Given the description of an element on the screen output the (x, y) to click on. 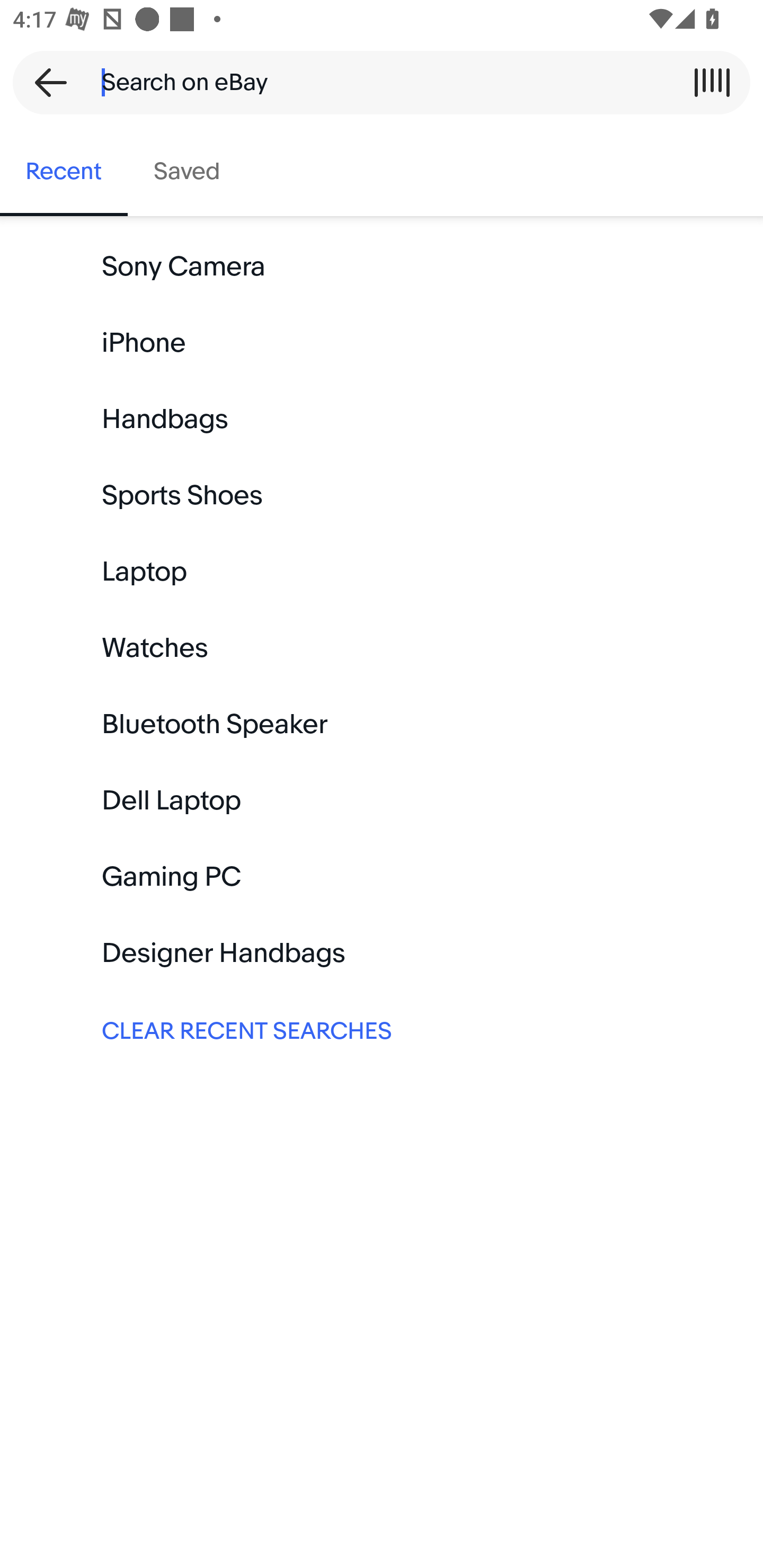
Back (44, 82)
Scan a barcode (711, 82)
Search on eBay (375, 82)
Saved, tab 2 of 2 Saved (186, 171)
Sony Camera Keyword search Sony Camera: (381, 266)
iPhone Keyword search iPhone: (381, 343)
Handbags Keyword search Handbags: (381, 419)
Sports Shoes Keyword search Sports Shoes: (381, 495)
Laptop Keyword search Laptop: (381, 571)
Watches Keyword search Watches: (381, 647)
Dell Laptop Keyword search Dell Laptop: (381, 800)
Gaming PC Keyword search Gaming PC: (381, 876)
CLEAR RECENT SEARCHES (381, 1028)
